Given the description of an element on the screen output the (x, y) to click on. 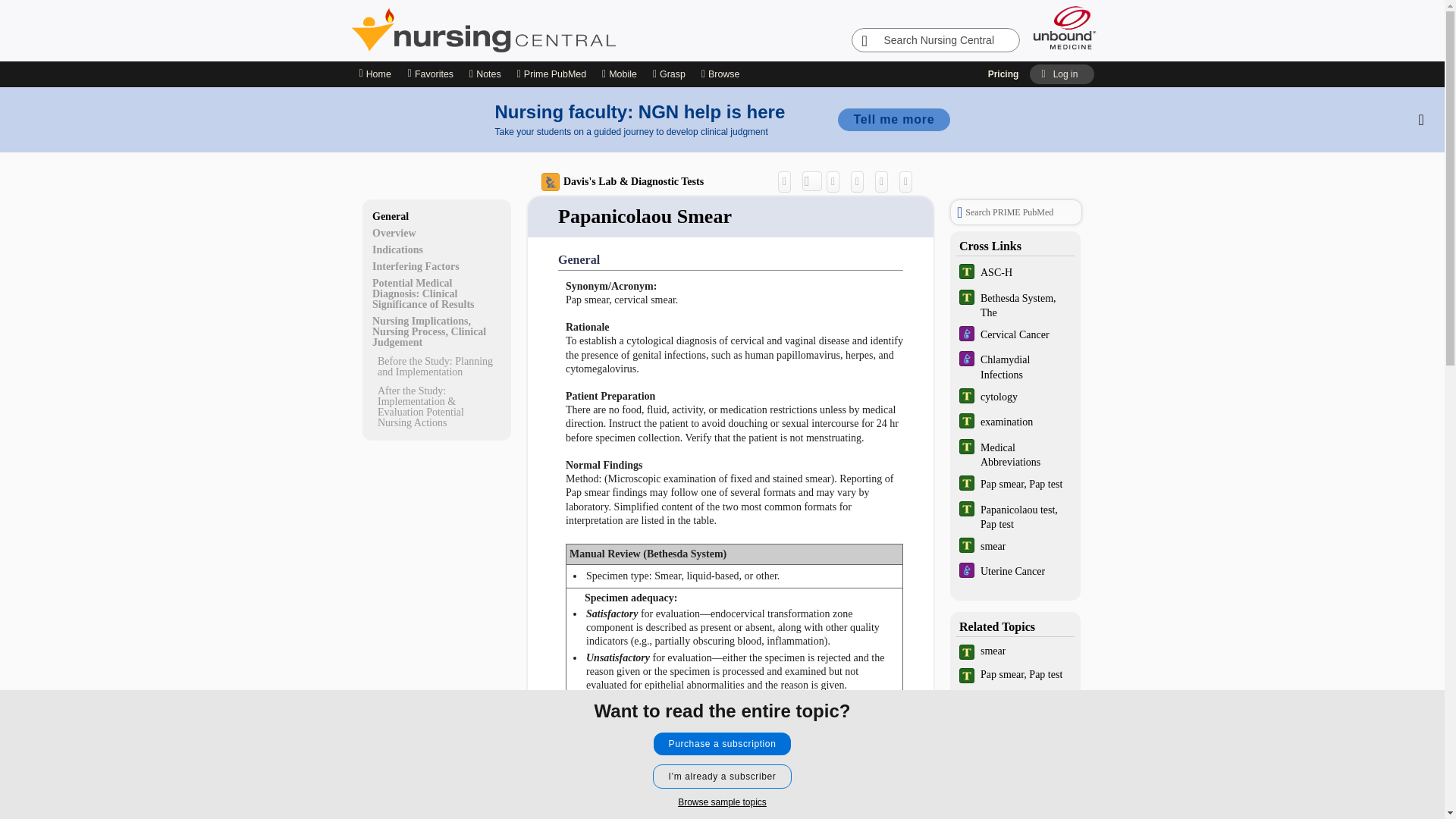
Home (373, 73)
Bethesda System, The (1015, 304)
Browse (722, 73)
Tell me more (893, 119)
Favorite (885, 180)
Chlamydial Infections (1015, 366)
Cervical Cancer (1015, 335)
Search PRIME PubMed (1015, 211)
Tag Record (909, 180)
Mobile (619, 73)
